Given the description of an element on the screen output the (x, y) to click on. 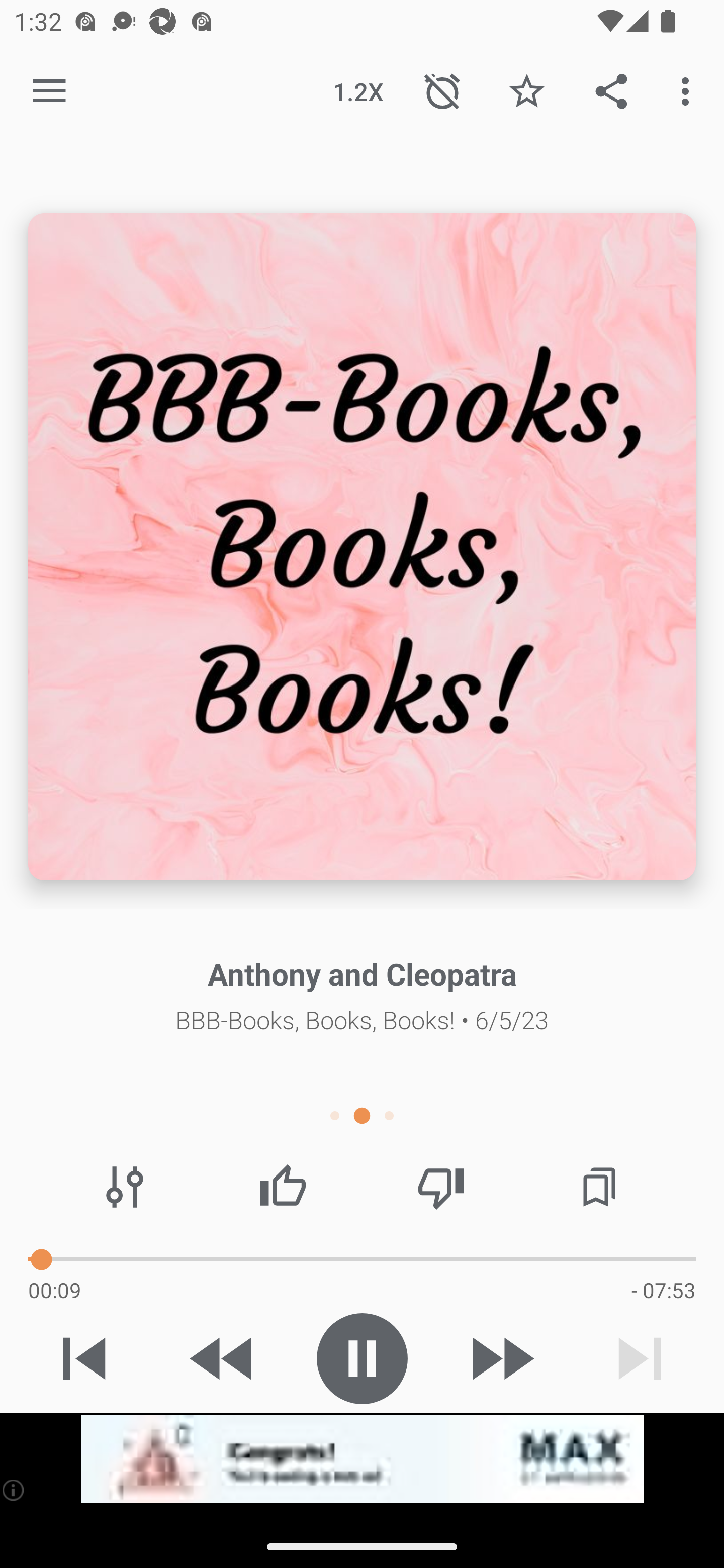
Open navigation sidebar (49, 91)
1.2X (357, 90)
Sleep Timer (442, 90)
Favorite (526, 90)
Share (611, 90)
More options (688, 90)
Episode description (361, 547)
Audio effects (124, 1186)
Thumbs up (283, 1186)
Thumbs down (440, 1186)
Chapters / Bookmarks (598, 1186)
- 07:53 (663, 1289)
Previous track (84, 1358)
Skip 15s backward (222, 1358)
Play / Pause (362, 1358)
Skip 30s forward (500, 1358)
Next track (639, 1358)
app-monetization (362, 1459)
(i) (14, 1489)
